Given the description of an element on the screen output the (x, y) to click on. 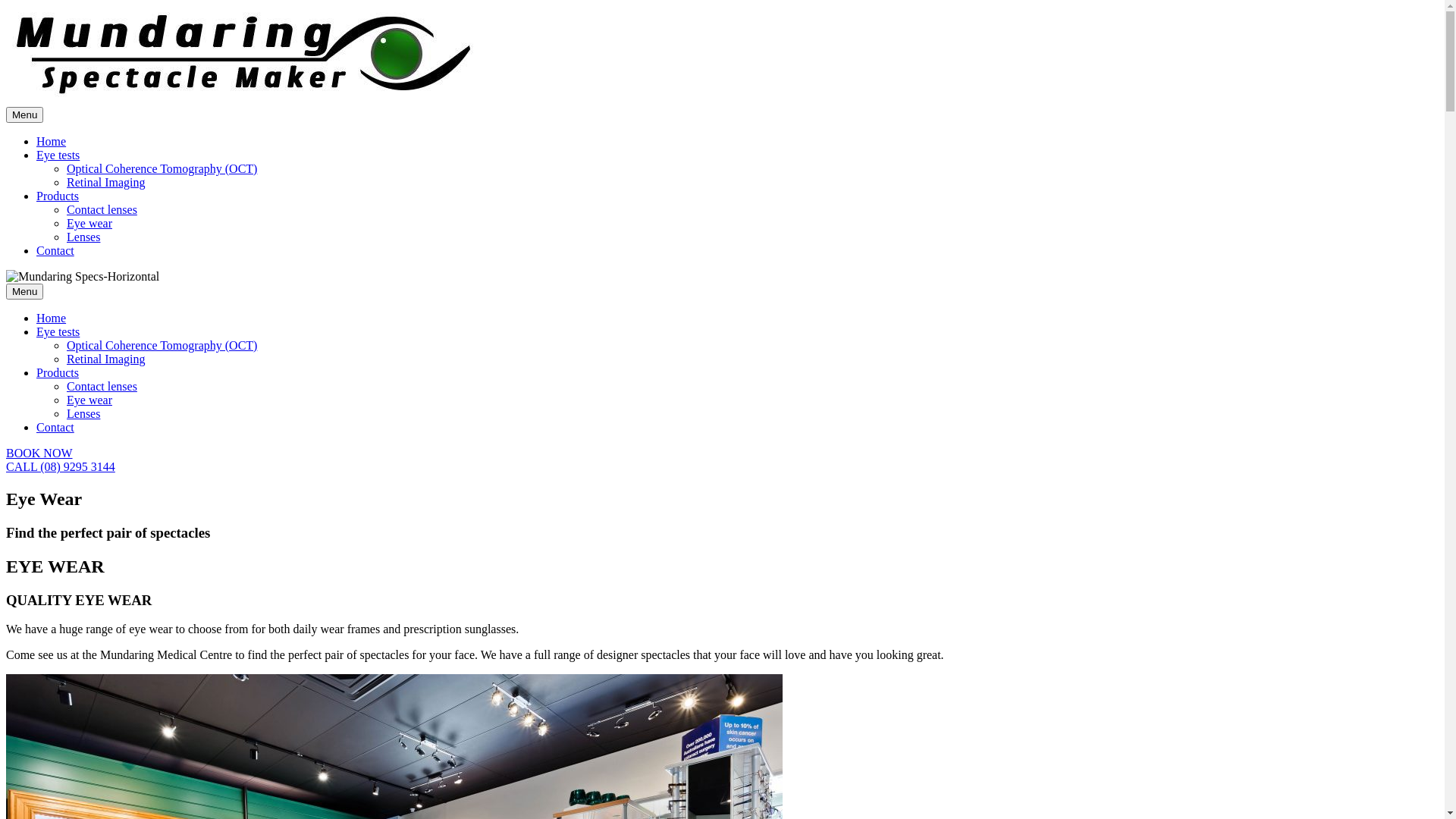
CALL (08) 9295 3144 Element type: text (60, 466)
Lenses Element type: text (83, 236)
Retinal Imaging Element type: text (105, 358)
Optical Coherence Tomography (OCT) Element type: text (161, 168)
Retinal Imaging Element type: text (105, 181)
Eye wear Element type: text (89, 399)
Eye wear Element type: text (89, 222)
Eye tests Element type: text (57, 331)
Menu Element type: text (24, 291)
Home Element type: text (50, 317)
Home Element type: text (50, 140)
Mundaring Specs-Horizontal Element type: hover (82, 276)
Eye tests Element type: text (57, 154)
Products Element type: text (57, 195)
Optical Coherence Tomography (OCT) Element type: text (161, 344)
Lenses Element type: text (83, 413)
Contact Element type: text (55, 250)
Products Element type: text (57, 372)
Contact lenses Element type: text (101, 385)
Menu Element type: text (24, 114)
Contact lenses Element type: text (101, 209)
Contact Element type: text (55, 426)
BOOK NOW Element type: text (39, 452)
